Given the description of an element on the screen output the (x, y) to click on. 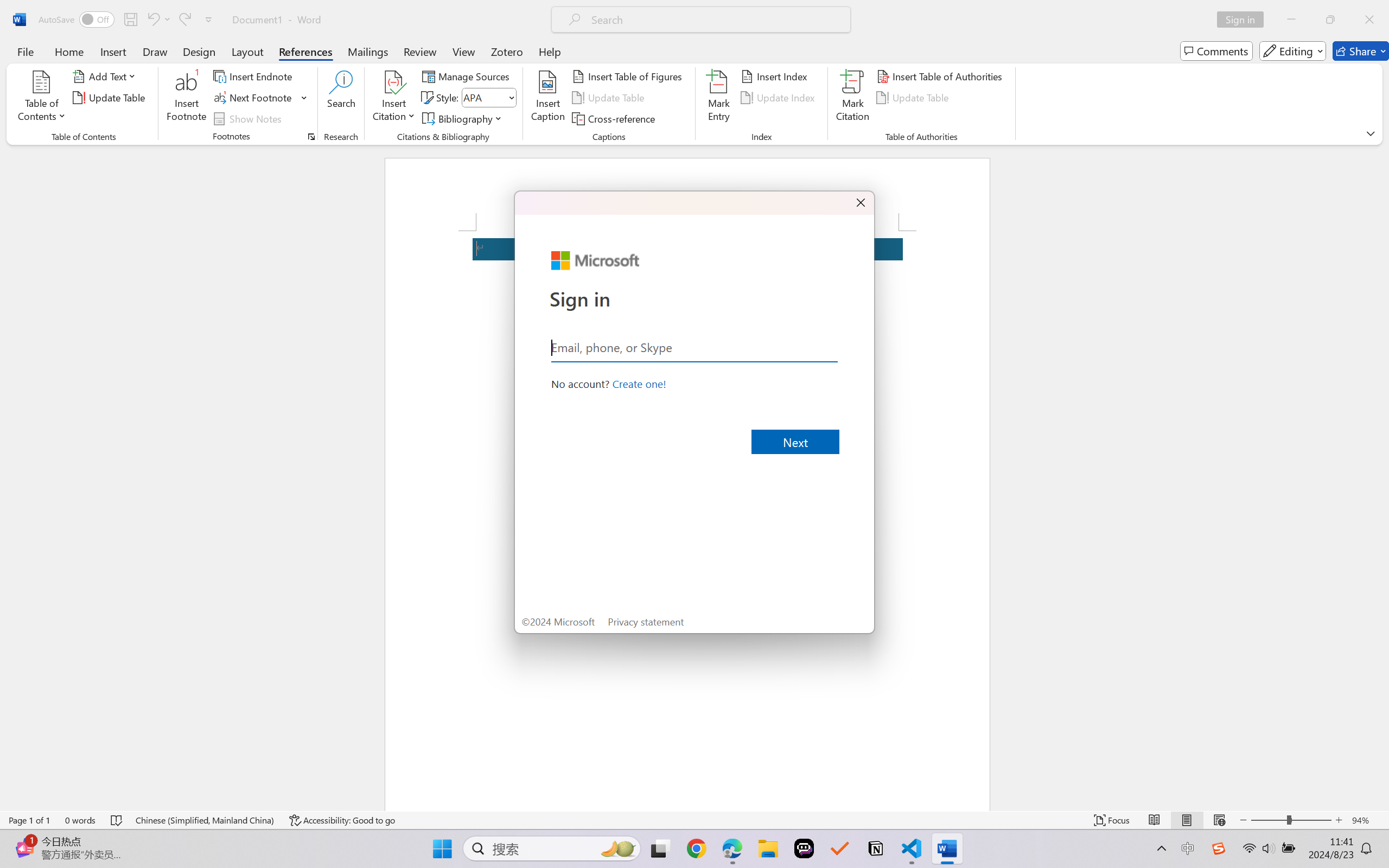
Search (341, 97)
Style (483, 96)
Redo Apply Quick Style (184, 19)
